Given the description of an element on the screen output the (x, y) to click on. 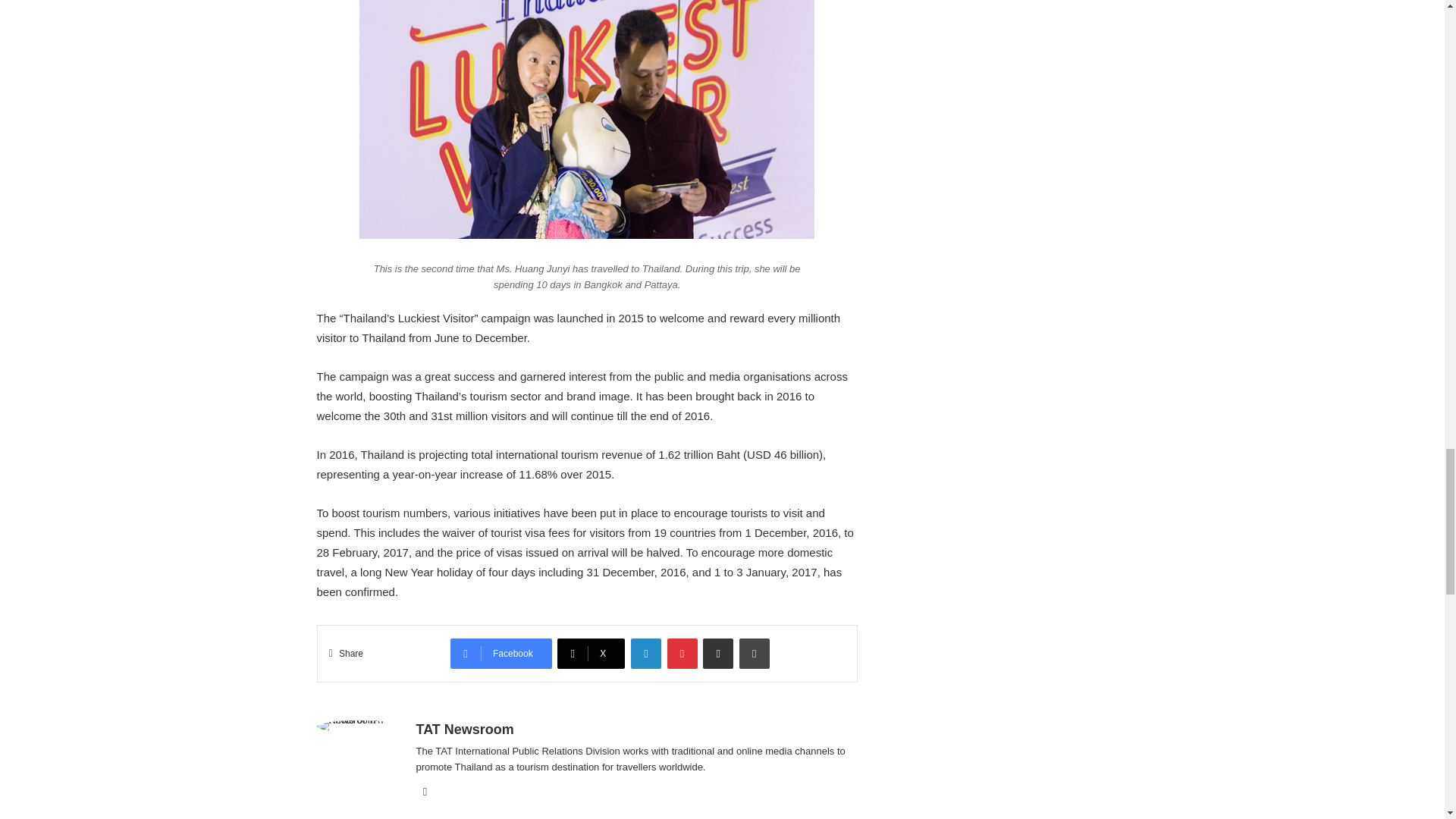
Share via Email (718, 653)
Facebook (500, 653)
Pinterest (681, 653)
X (590, 653)
LinkedIn (645, 653)
